Given the description of an element on the screen output the (x, y) to click on. 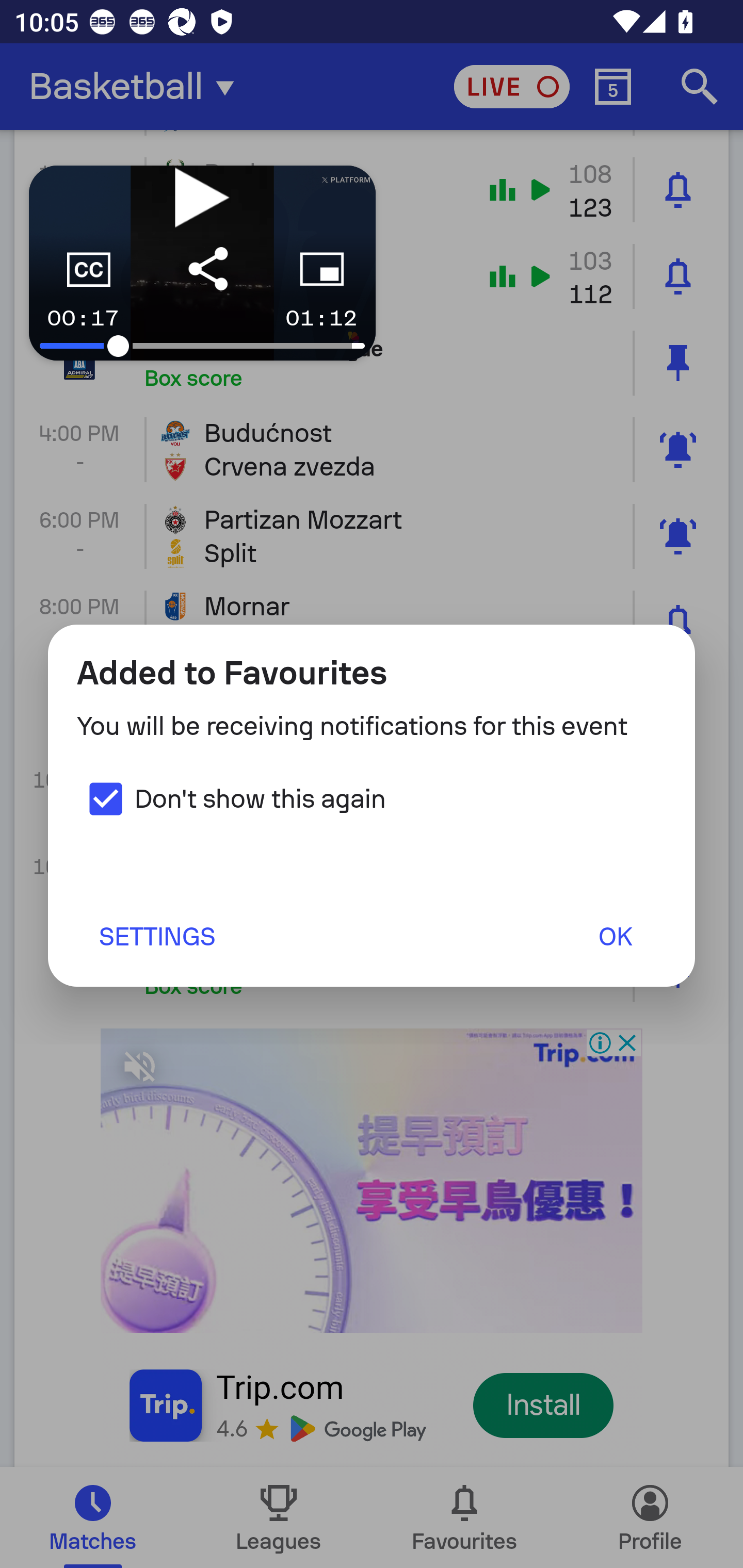
Don't show this again (231, 798)
SETTINGS (156, 936)
OK (615, 936)
